Given the description of an element on the screen output the (x, y) to click on. 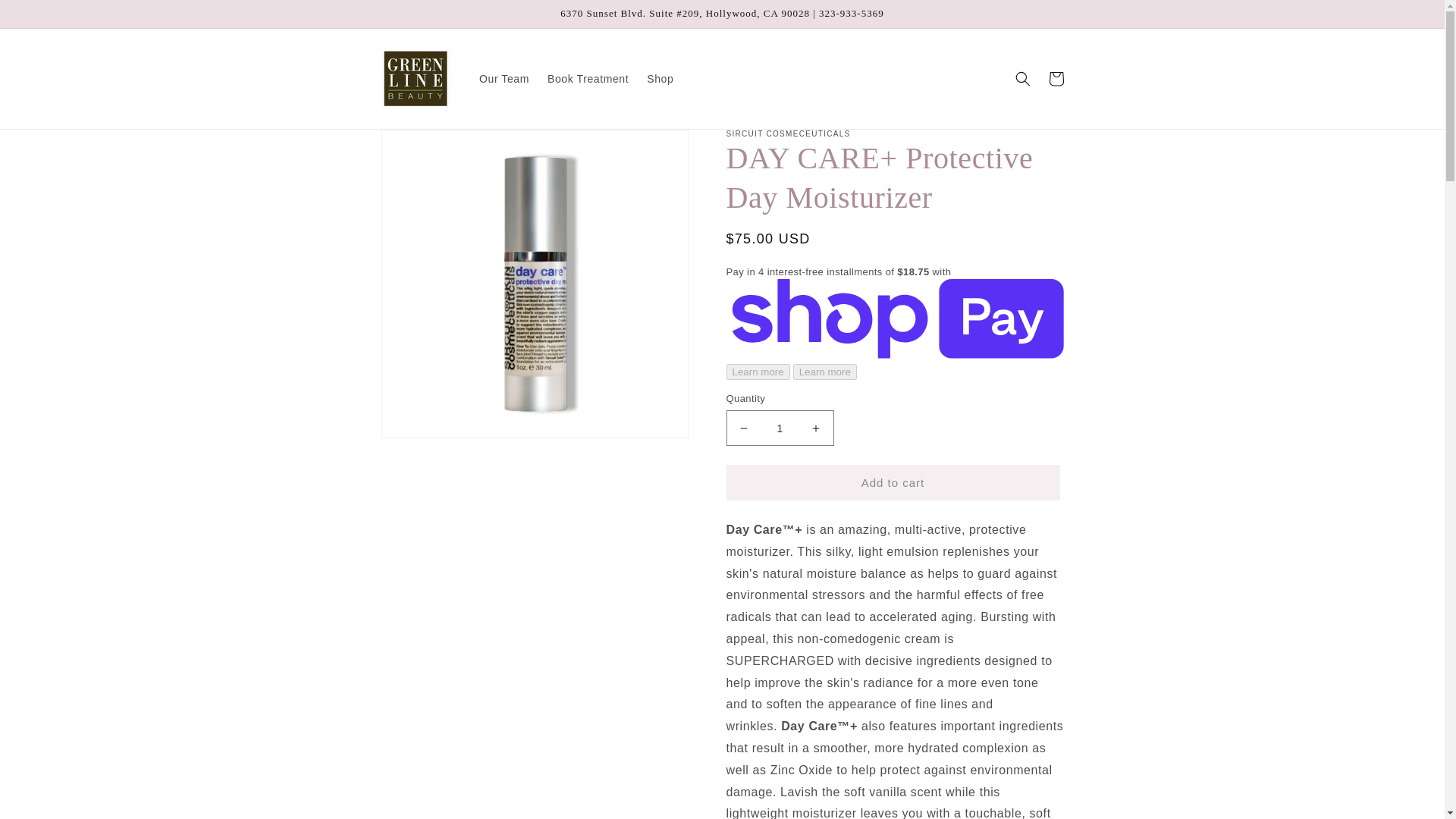
Shop (659, 79)
Skip to product information (426, 146)
Our Team (504, 79)
Add to cart (892, 482)
Skip to content (45, 17)
Book Treatment (587, 79)
1 (780, 427)
Cart (1055, 78)
